Given the description of an element on the screen output the (x, y) to click on. 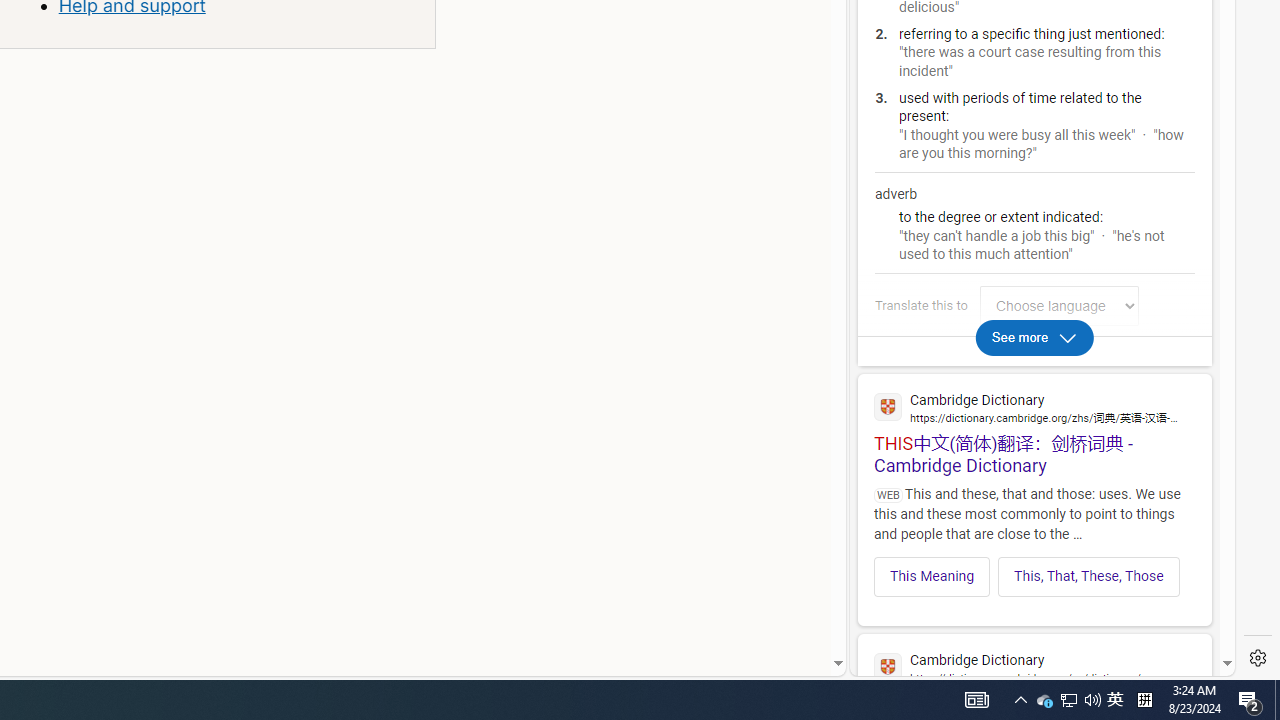
This Meaning (932, 575)
Cambridge Dictionary (1034, 666)
Link for logging (1064, 305)
This, That, These, Those (1089, 575)
This, That, These, Those (1088, 575)
This MeaningThis, That, These, Those (1034, 570)
This Meaning (932, 575)
Translate this to Choose language (1059, 305)
